Given the description of an element on the screen output the (x, y) to click on. 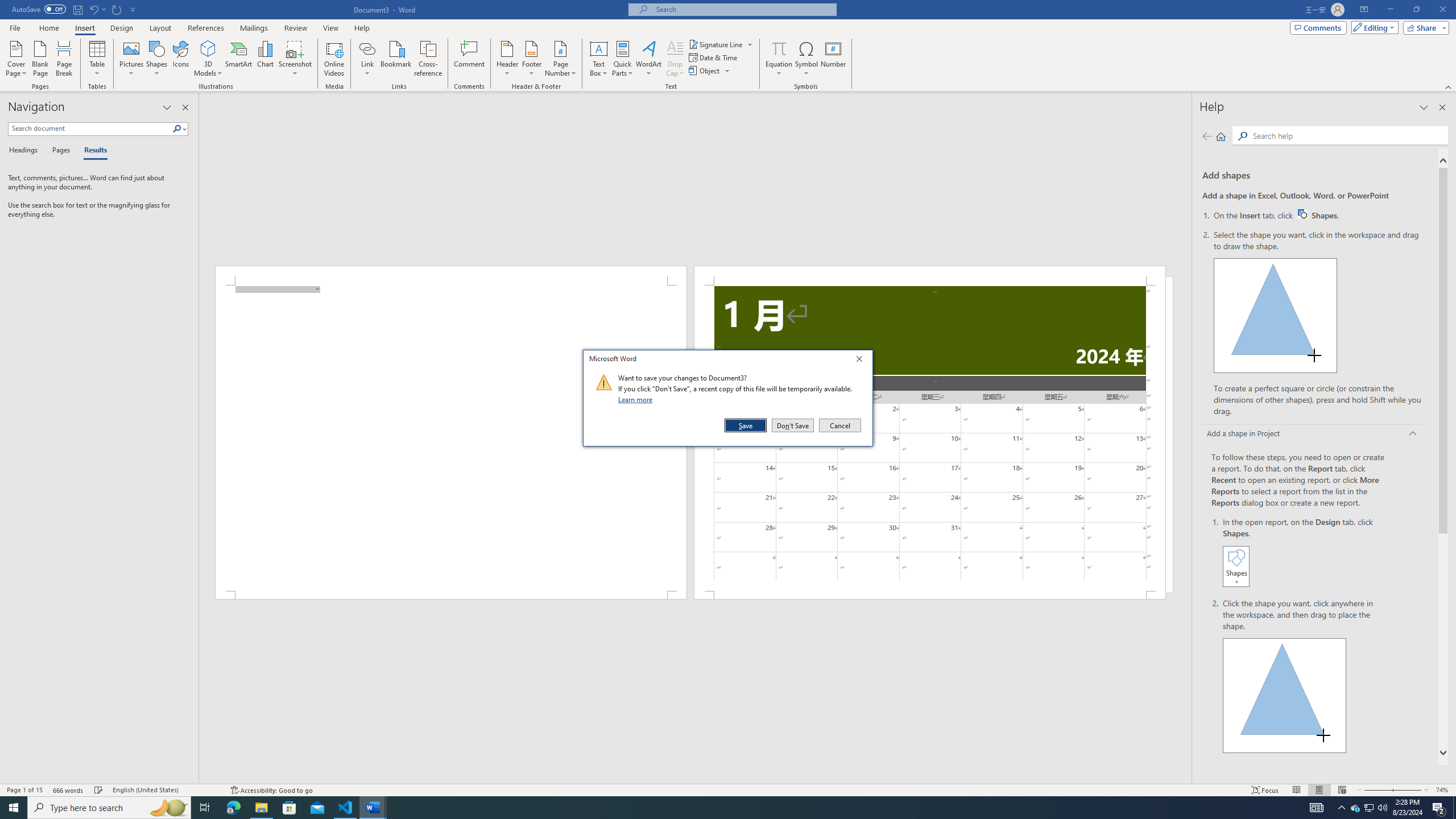
Microsoft search (742, 9)
Footer -Section 1- (930, 595)
Cover Page (16, 58)
Text Box (598, 58)
Close pane (185, 107)
Word - 2 running windows (373, 807)
Equation (778, 58)
Cancel (839, 425)
AutomationID: 4105 (1316, 807)
Language English (United States) (165, 790)
3D Models (208, 48)
